Given the description of an element on the screen output the (x, y) to click on. 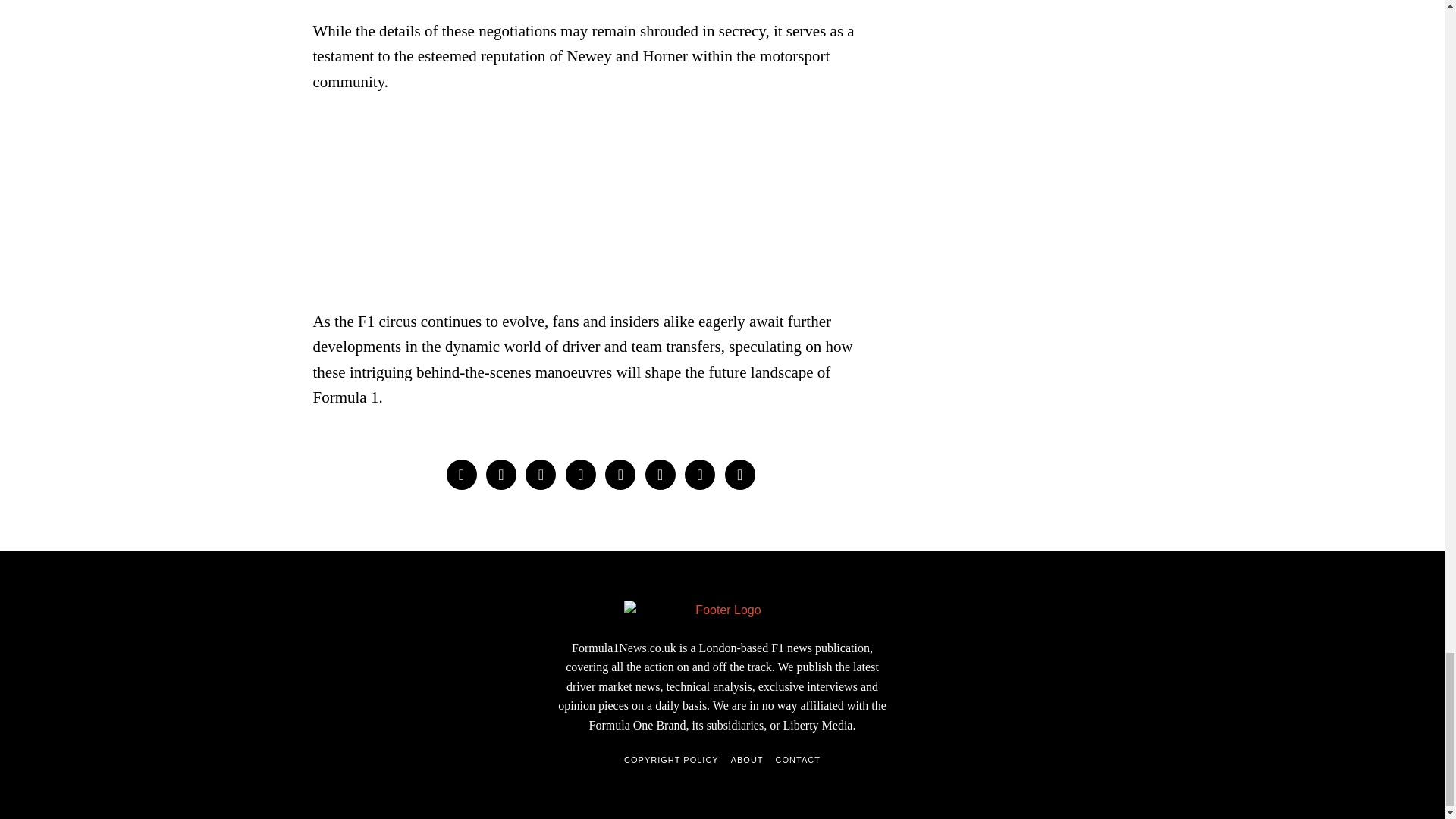
COPYRIGHT POLICY (671, 759)
Reddit (699, 474)
Pinterest (580, 474)
Twitter (540, 474)
ABOUT (746, 759)
Linkedin (619, 474)
Messenger (501, 474)
Whatsapp (660, 474)
Email (740, 474)
CONTACT (798, 759)
